Given the description of an element on the screen output the (x, y) to click on. 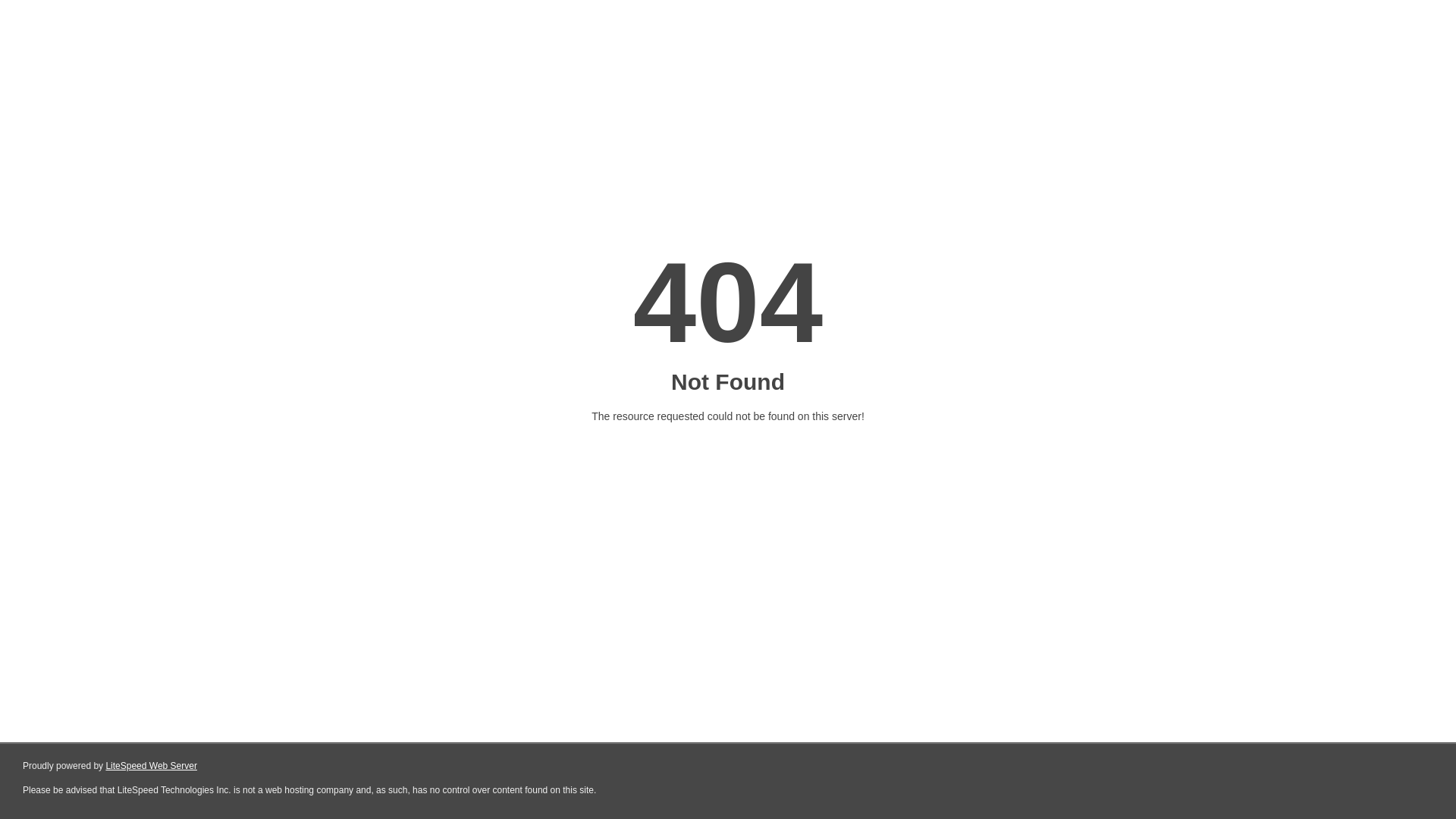
LiteSpeed Web Server Element type: text (151, 765)
